Given the description of an element on the screen output the (x, y) to click on. 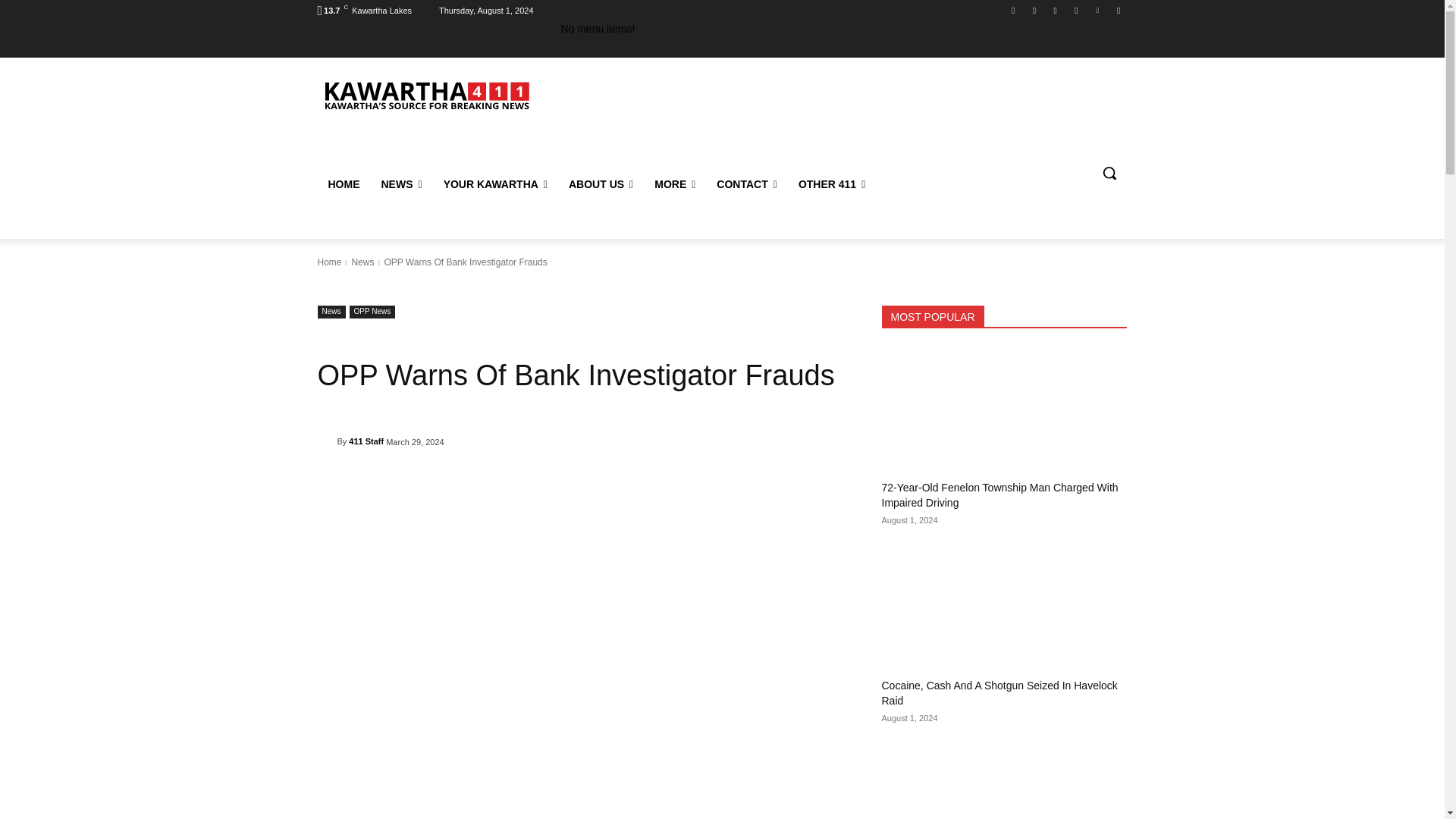
Instagram (1034, 9)
Telegram (1075, 9)
Facebook (1013, 9)
Kawartha 411 News (425, 94)
Twitter (1097, 9)
Paypal (1055, 9)
View all posts in News (362, 262)
Youtube (1117, 9)
